Given the description of an element on the screen output the (x, y) to click on. 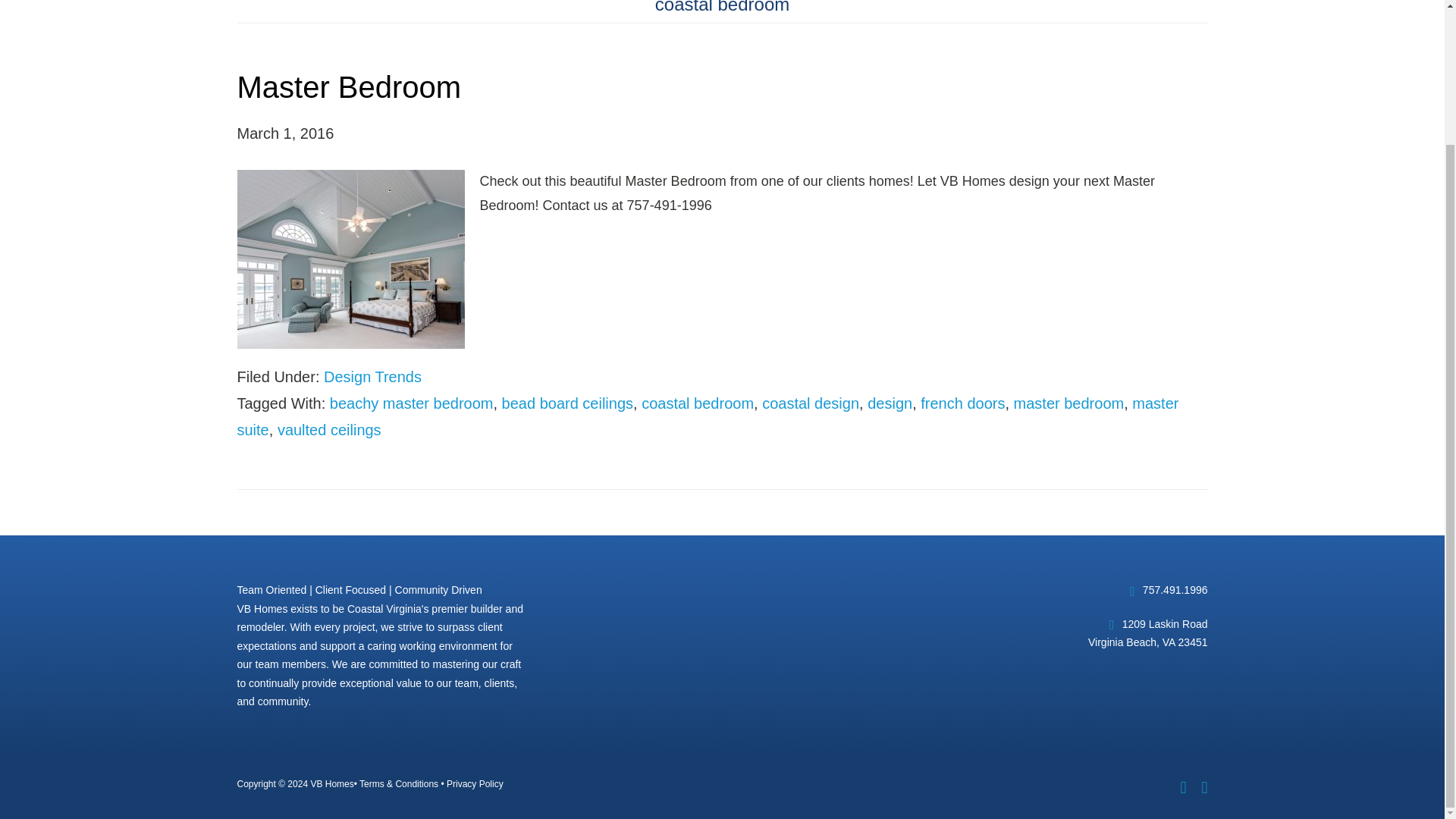
beachy master bedroom (411, 402)
757.491.1996 (1175, 589)
master suite (706, 416)
vaulted ceilings (329, 429)
design (889, 402)
french doors (962, 402)
Design Trends (372, 376)
Master Bedroom (348, 87)
coastal design (810, 402)
master bedroom (1068, 402)
